Given the description of an element on the screen output the (x, y) to click on. 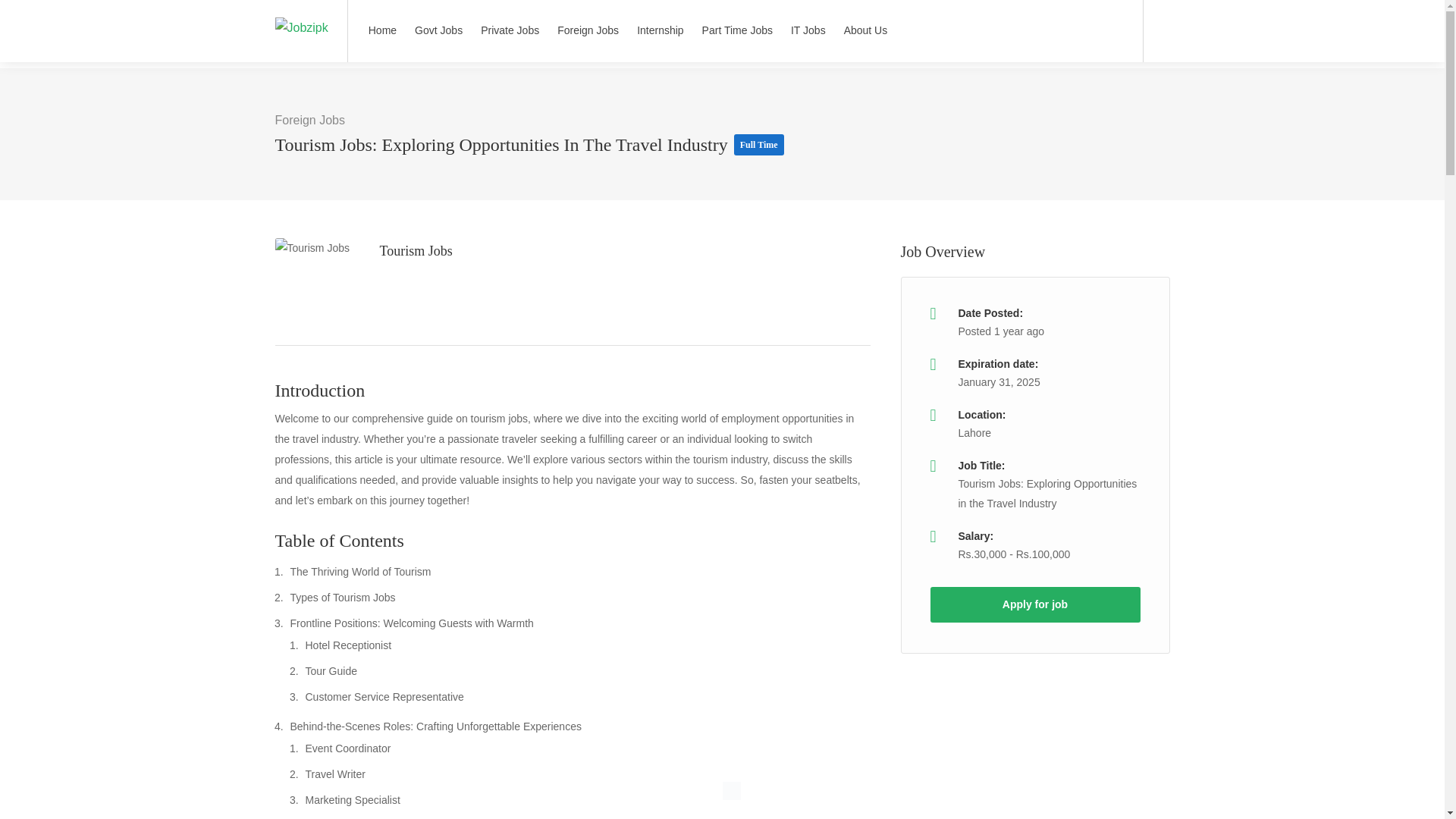
Jobzipk (301, 10)
Govt Jobs (438, 30)
Foreign Jobs (587, 30)
IT Jobs (808, 30)
Internship (659, 30)
About Us (865, 30)
Private Jobs (509, 30)
Apply for job (1035, 604)
Lahore (974, 432)
Foreign Jobs (310, 119)
Part Time Jobs (737, 30)
Home (381, 30)
